Given the description of an element on the screen output the (x, y) to click on. 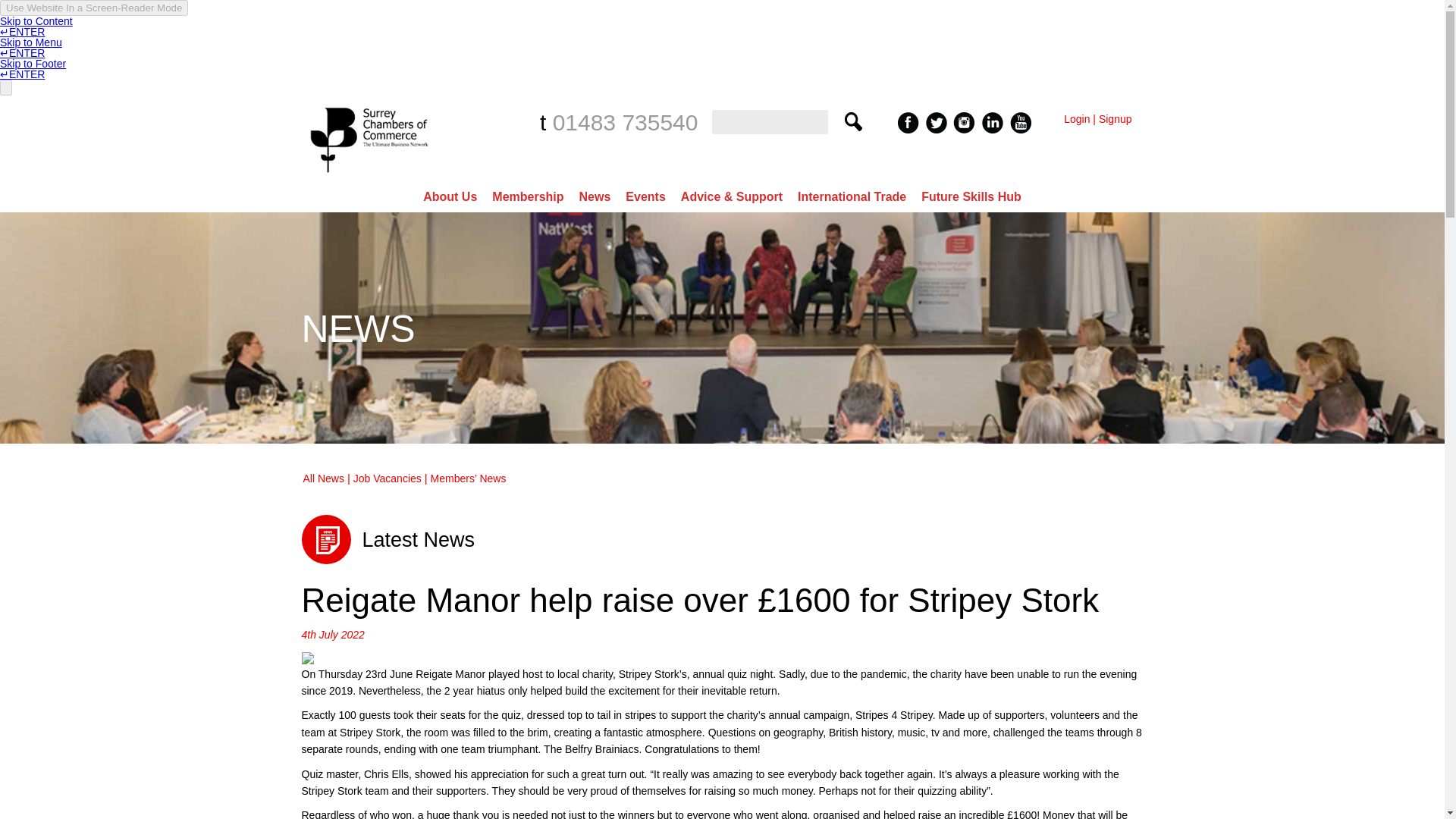
Surrey Chambers (371, 176)
Signup (1115, 119)
01483 735540 (625, 122)
Membership (527, 196)
Login (1076, 119)
About Us (449, 196)
